Given the description of an element on the screen output the (x, y) to click on. 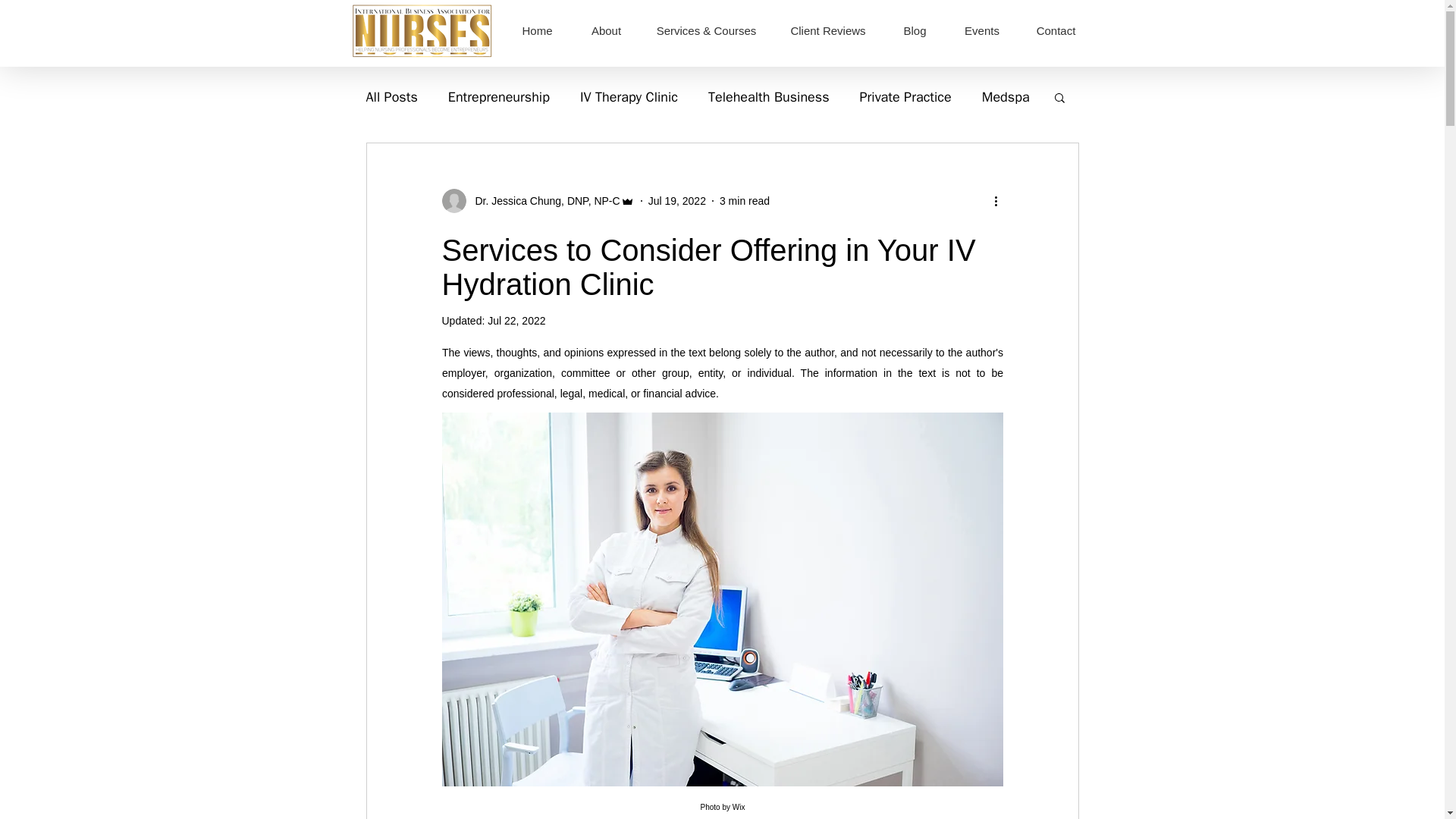
Client Reviews (827, 30)
Events (981, 30)
Entrepreneurship (499, 96)
Contact (1055, 30)
Dr. Jessica Chung, DNP, NP-C (537, 200)
About (606, 30)
Private Practice (906, 96)
Dr. Jessica Chung, DNP, NP-C (542, 200)
Jul 22, 2022 (515, 320)
Jul 19, 2022 (676, 200)
